Given the description of an element on the screen output the (x, y) to click on. 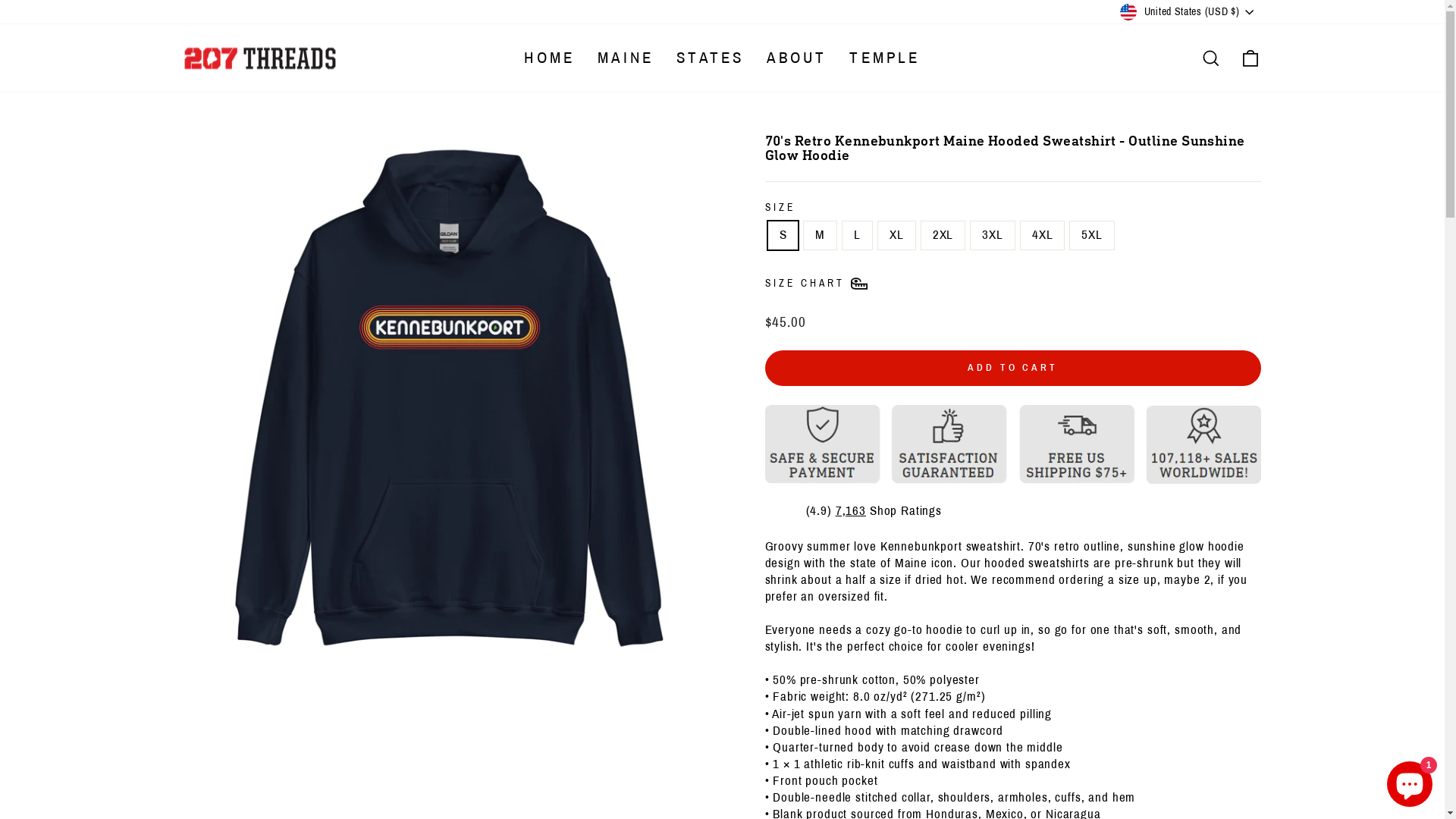
CART Element type: text (1249, 57)
ADD TO CART Element type: text (1012, 367)
ABOUT Element type: text (796, 58)
HOME Element type: text (549, 58)
MAINE Element type: text (625, 58)
Skip to content Element type: text (0, 0)
Shopify online store chat Element type: hover (1409, 780)
STATES Element type: text (710, 58)
TEMPLE Element type: text (884, 58)
United States (USD $) Element type: text (1187, 12)
SEARCH Element type: text (1210, 57)
